Given the description of an element on the screen output the (x, y) to click on. 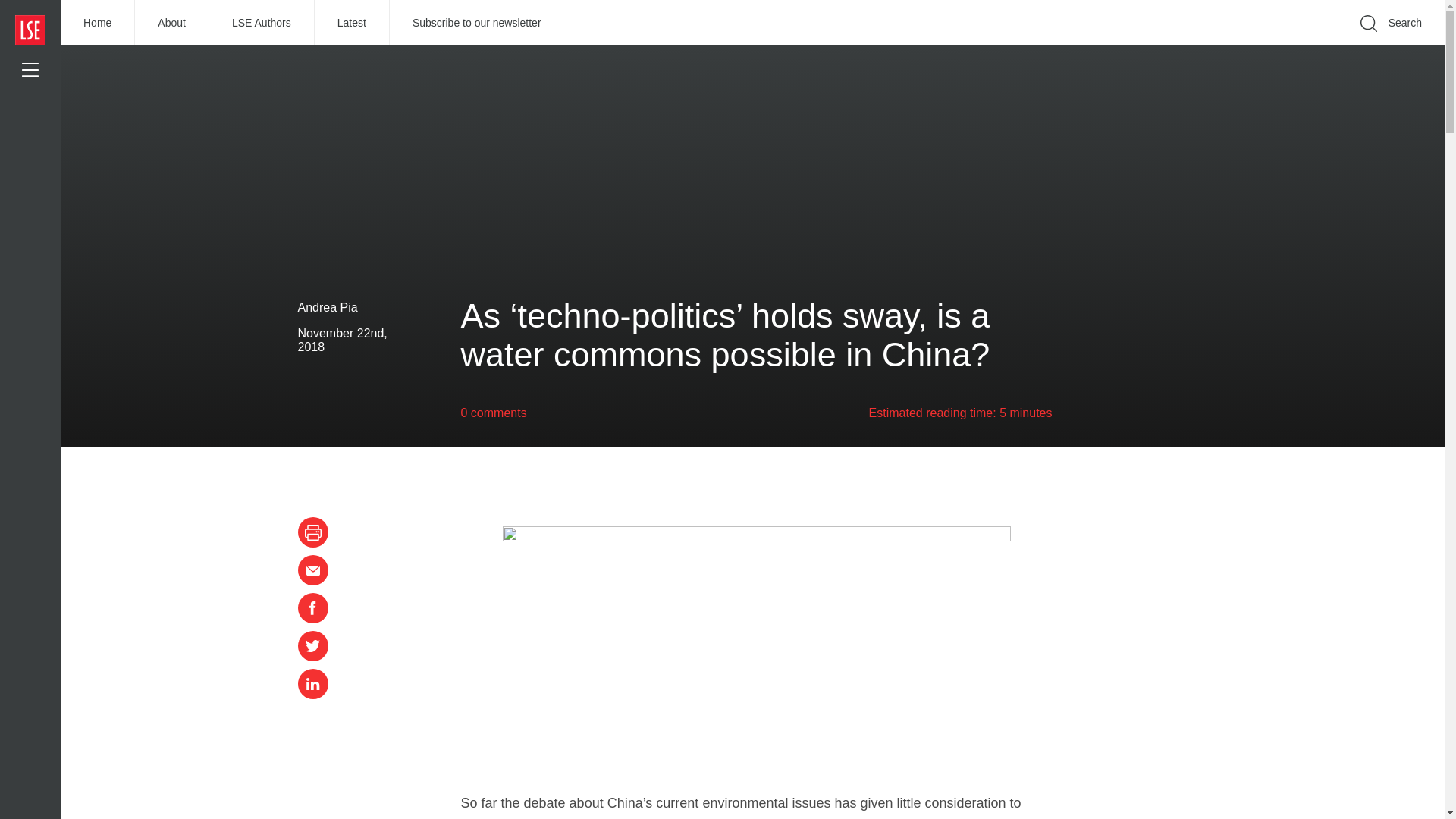
Go (1190, 44)
LSE Authors (261, 22)
Subscribe to our newsletter (477, 22)
Home (98, 22)
Latest (352, 22)
0 comments (494, 412)
About (172, 22)
